Given the description of an element on the screen output the (x, y) to click on. 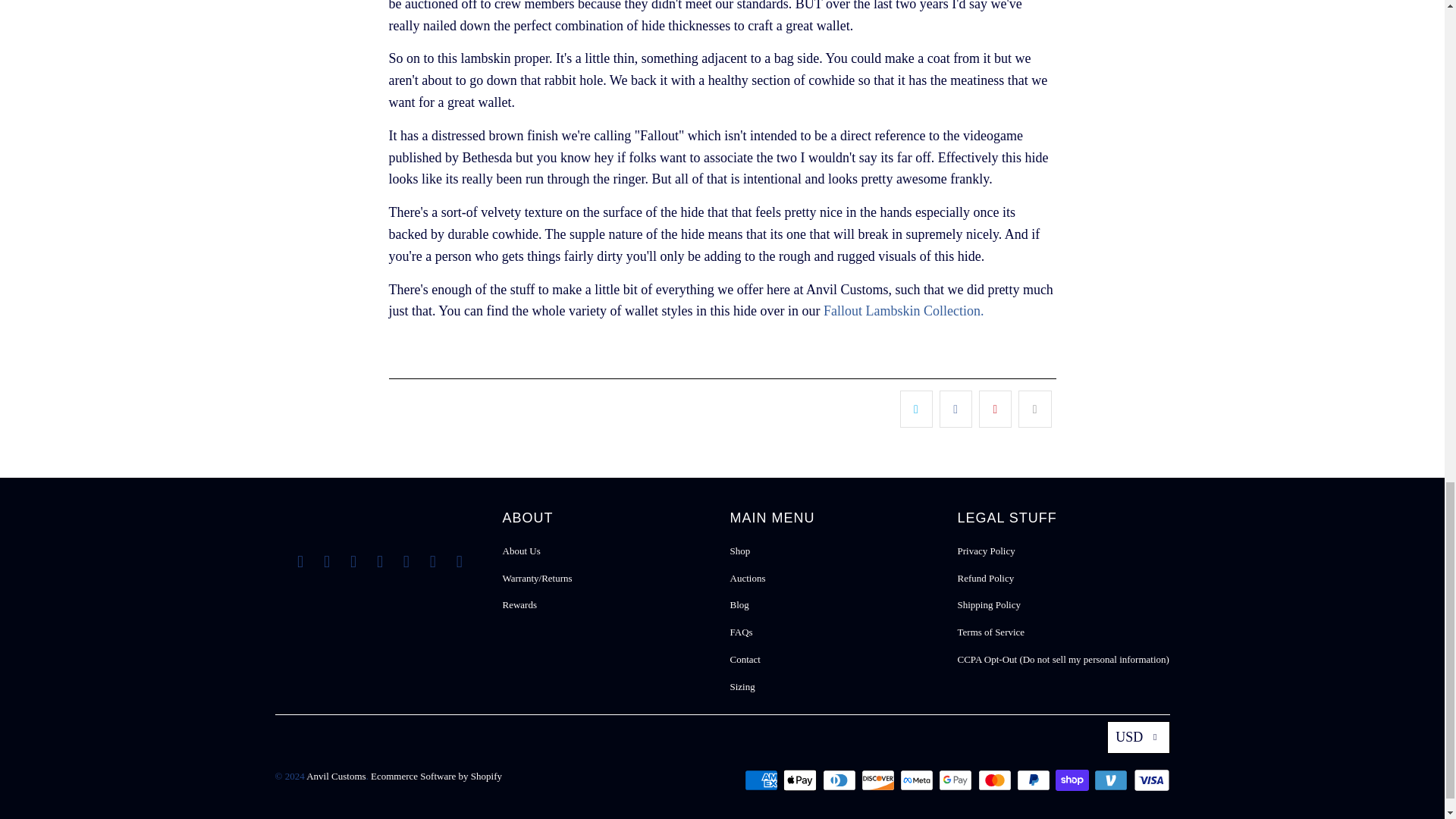
Discover (879, 780)
American Express (762, 780)
Mastercard (996, 780)
Meta Pay (917, 780)
Visa (1150, 780)
Diners Club (840, 780)
Venmo (1112, 780)
Apple Pay (801, 780)
Shop Pay (1073, 780)
Google Pay (957, 780)
